Given the description of an element on the screen output the (x, y) to click on. 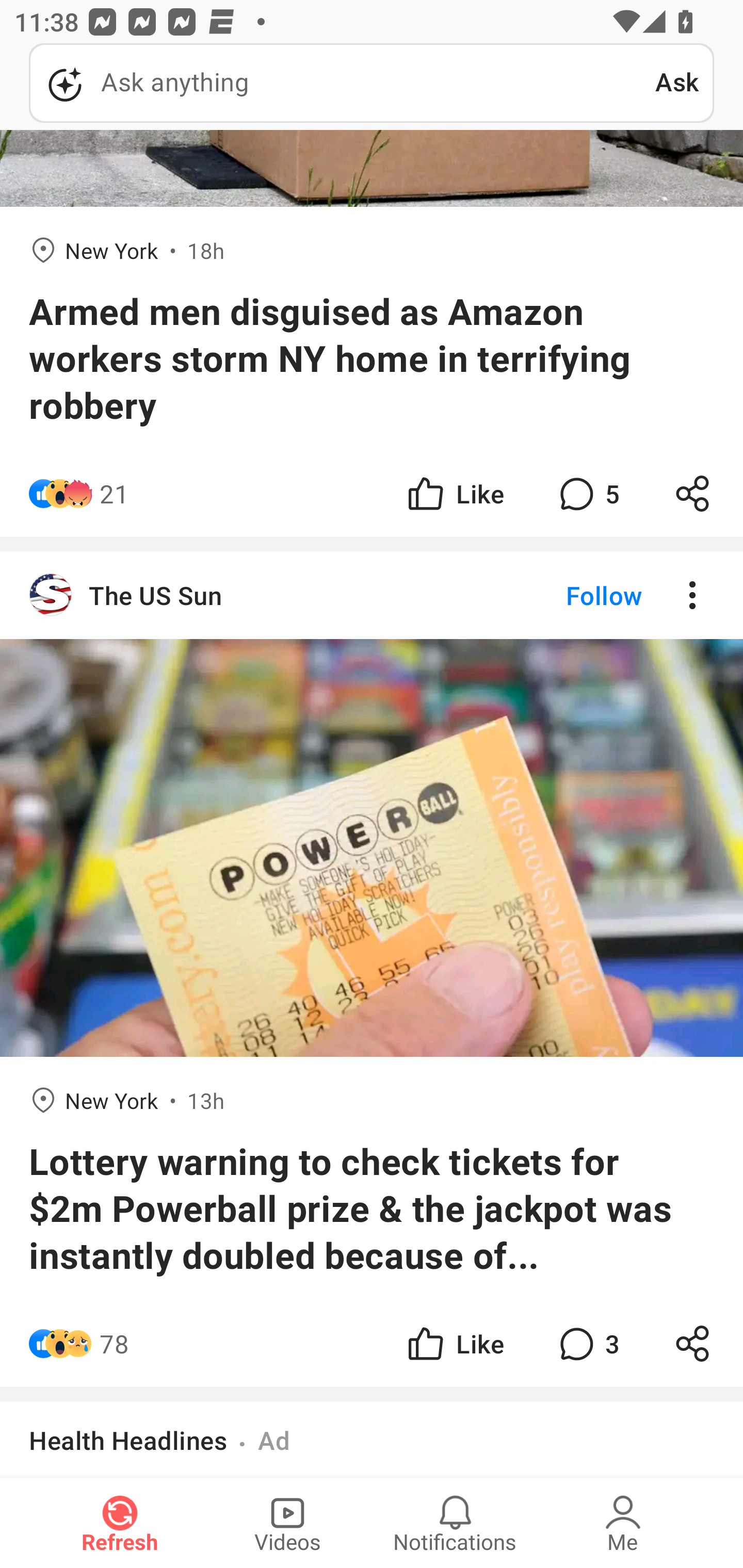
Ask anything (341, 82)
21 (114, 493)
Like (454, 493)
5 (587, 493)
The US Sun  Follow (371, 595)
Follow (569, 595)
78 (114, 1343)
Like (454, 1343)
3 (587, 1343)
Health Headlines (127, 1439)
Videos (287, 1522)
Notifications (455, 1522)
Me (622, 1522)
